Given the description of an element on the screen output the (x, y) to click on. 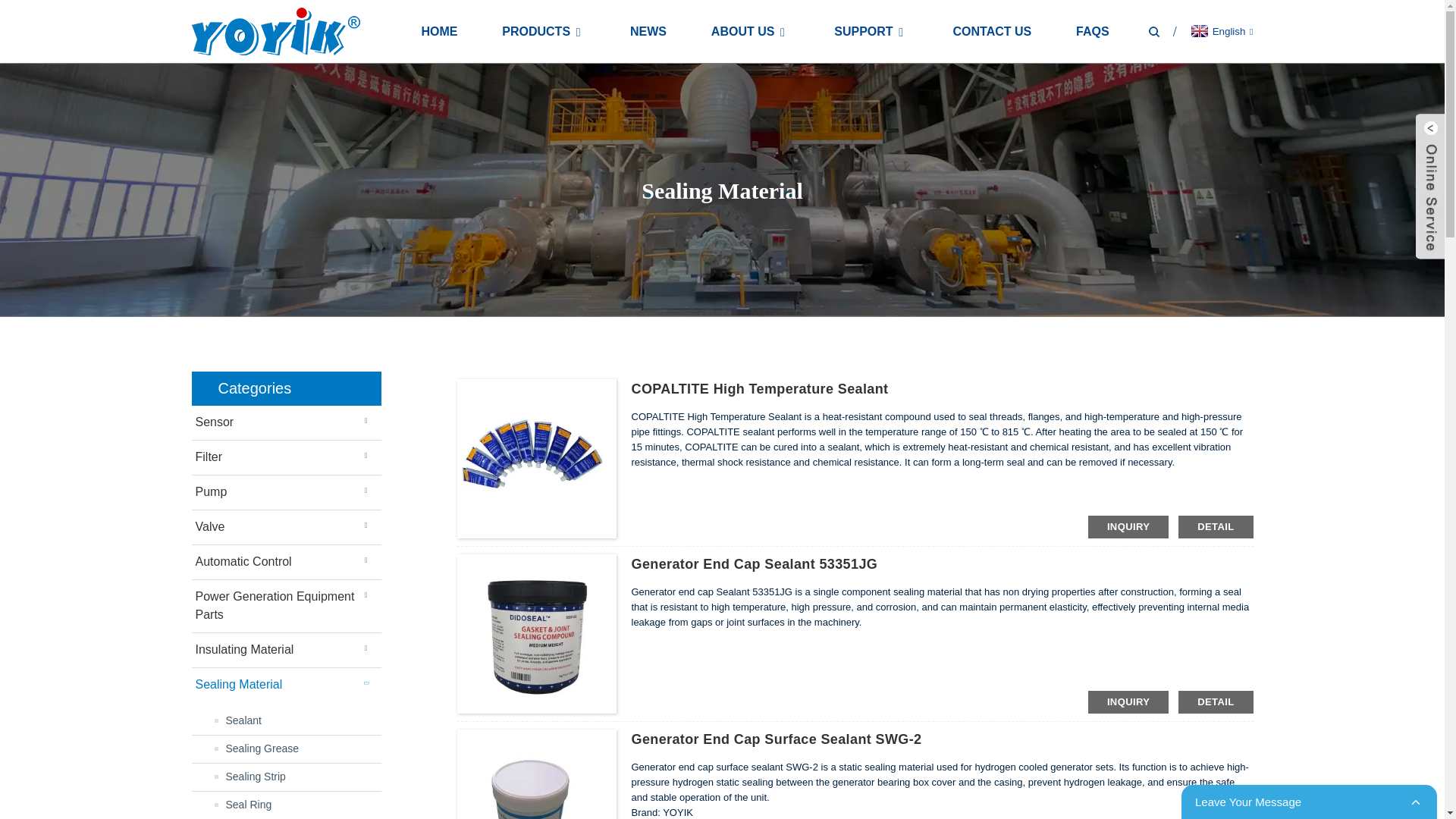
Generator end cap surface Sealant SWG-2 (775, 739)
HOME (438, 31)
COPALTITE High Temperature Sealant (759, 388)
PRODUCTS (543, 31)
Generator end cap Sealant 53351JG (753, 563)
